Given the description of an element on the screen output the (x, y) to click on. 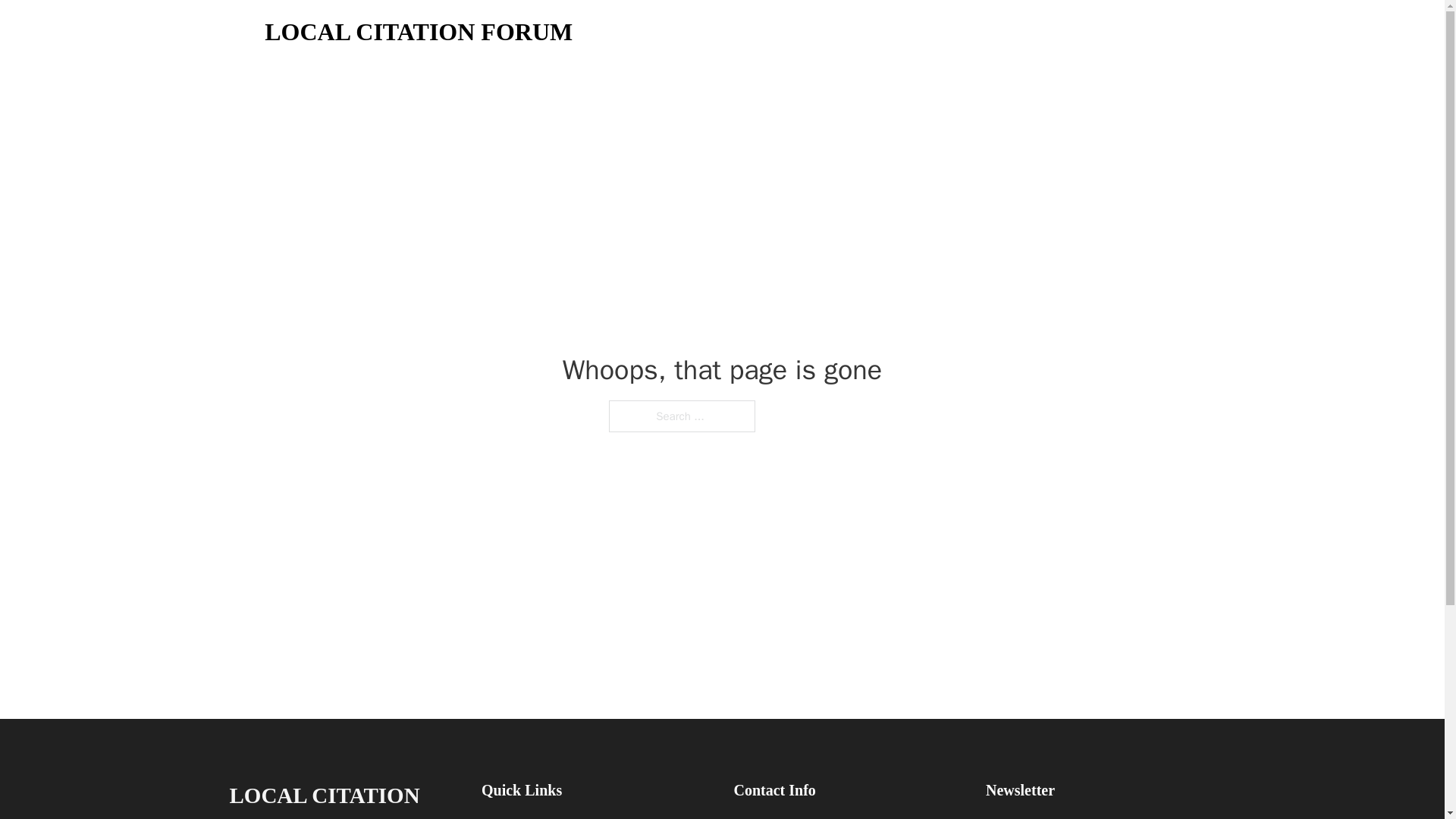
LOCAL CITATION FORUM (418, 31)
LOCAL CITATION FORUM (343, 798)
